Given the description of an element on the screen output the (x, y) to click on. 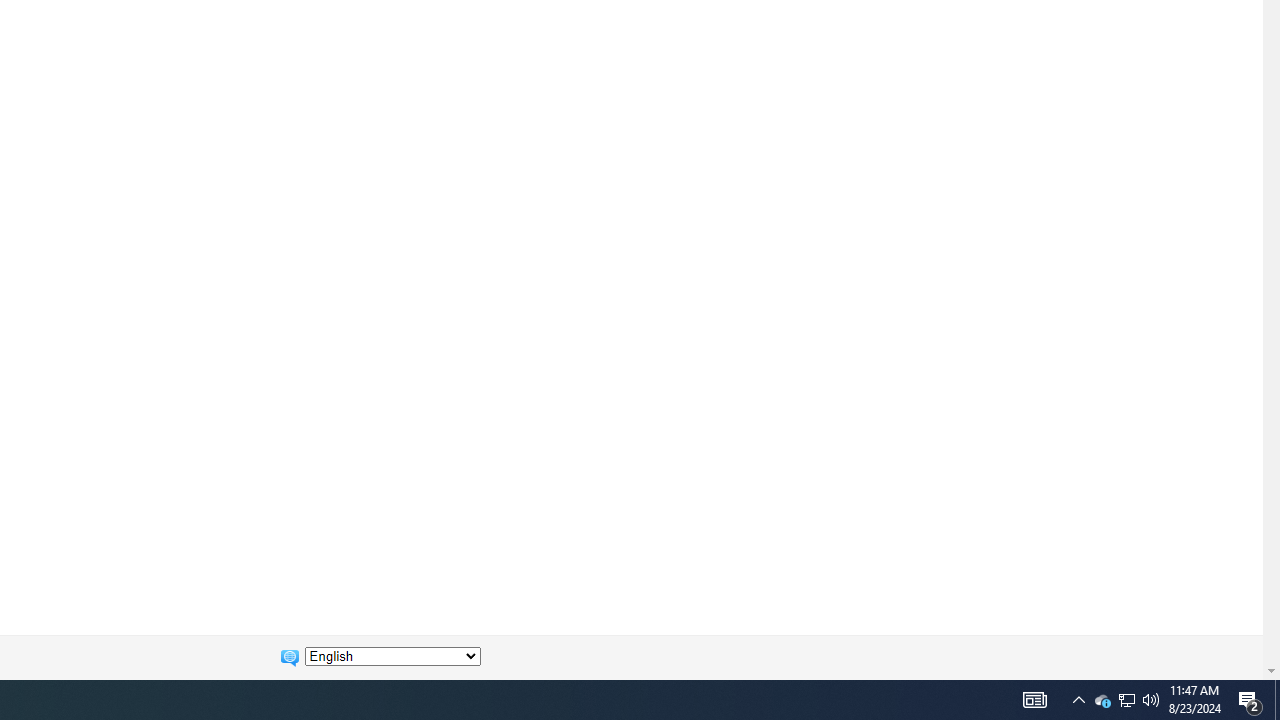
Change language: (392, 656)
